Given the description of an element on the screen output the (x, y) to click on. 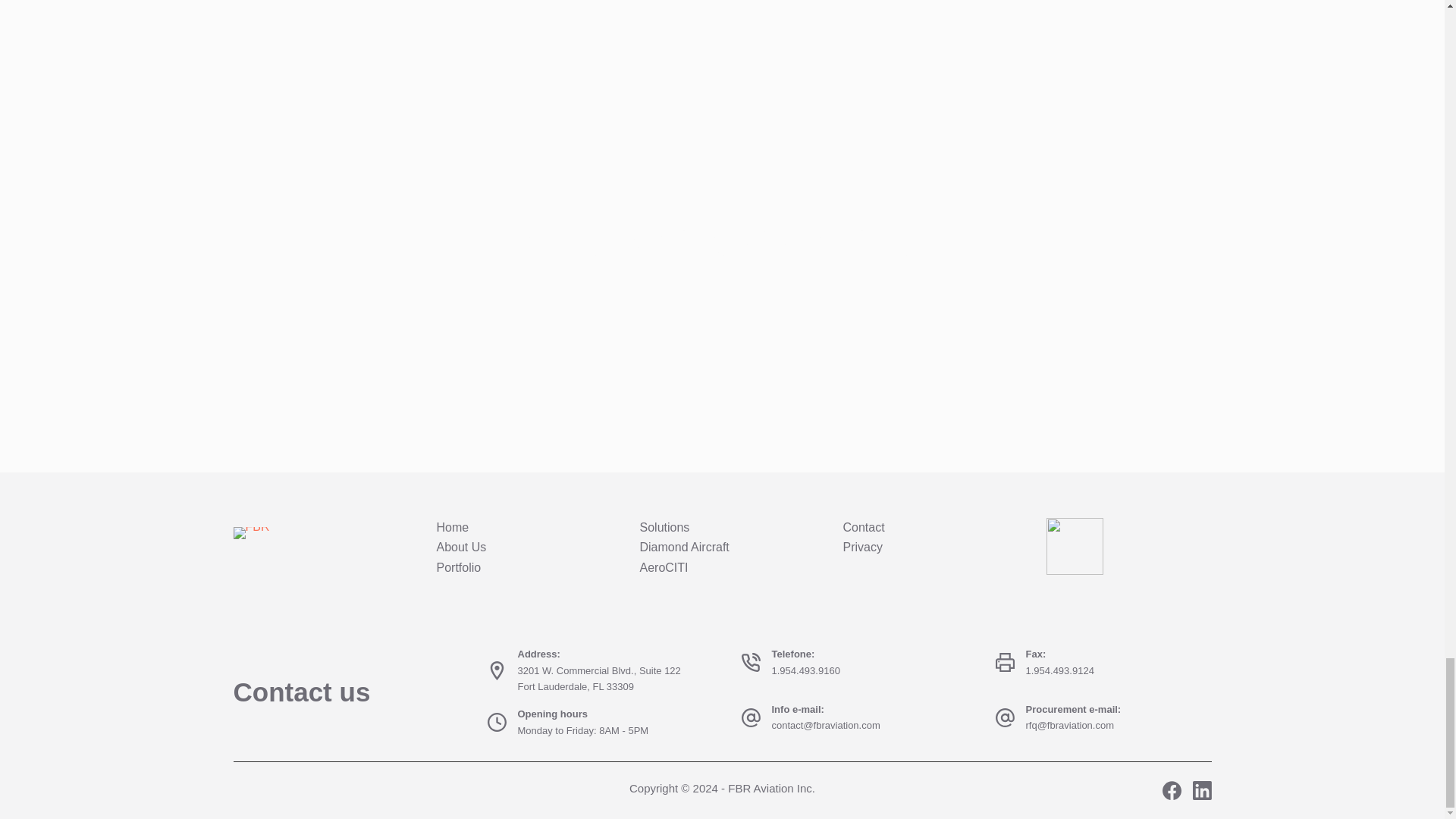
Portfolio (458, 567)
Diamond Aircraft (684, 546)
1.954.493.9160 (805, 670)
Privacy (862, 546)
Solutions (665, 526)
1.954.493.9124 (1059, 670)
Home (452, 526)
Monday to Friday: 8AM - 5PM (581, 730)
Contact (864, 526)
About Us (461, 546)
AeroCITI (664, 567)
